Given the description of an element on the screen output the (x, y) to click on. 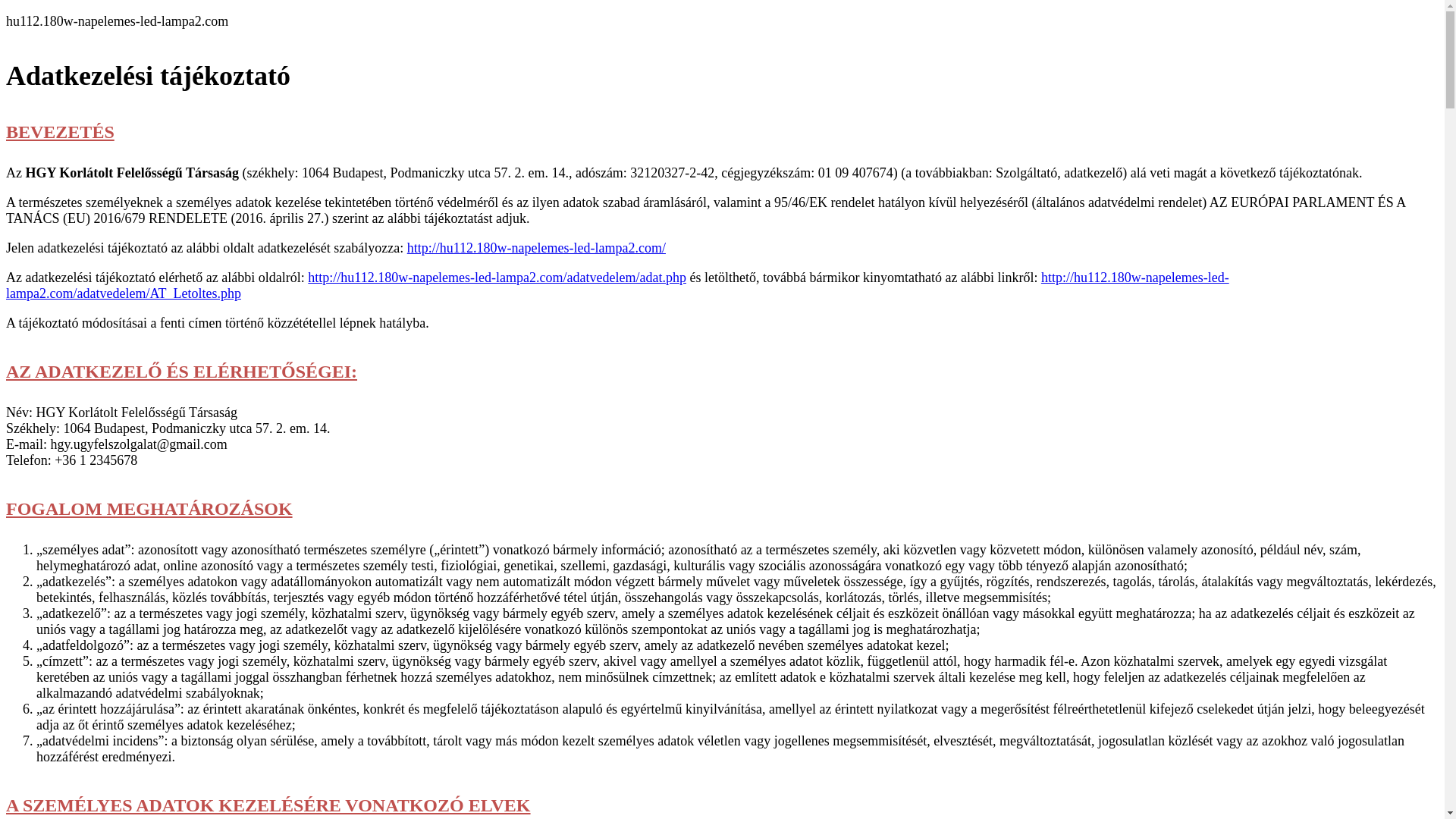
http://hu112.180w-napelemes-led-lampa2.com/ Element type: text (536, 247)
